Given the description of an element on the screen output the (x, y) to click on. 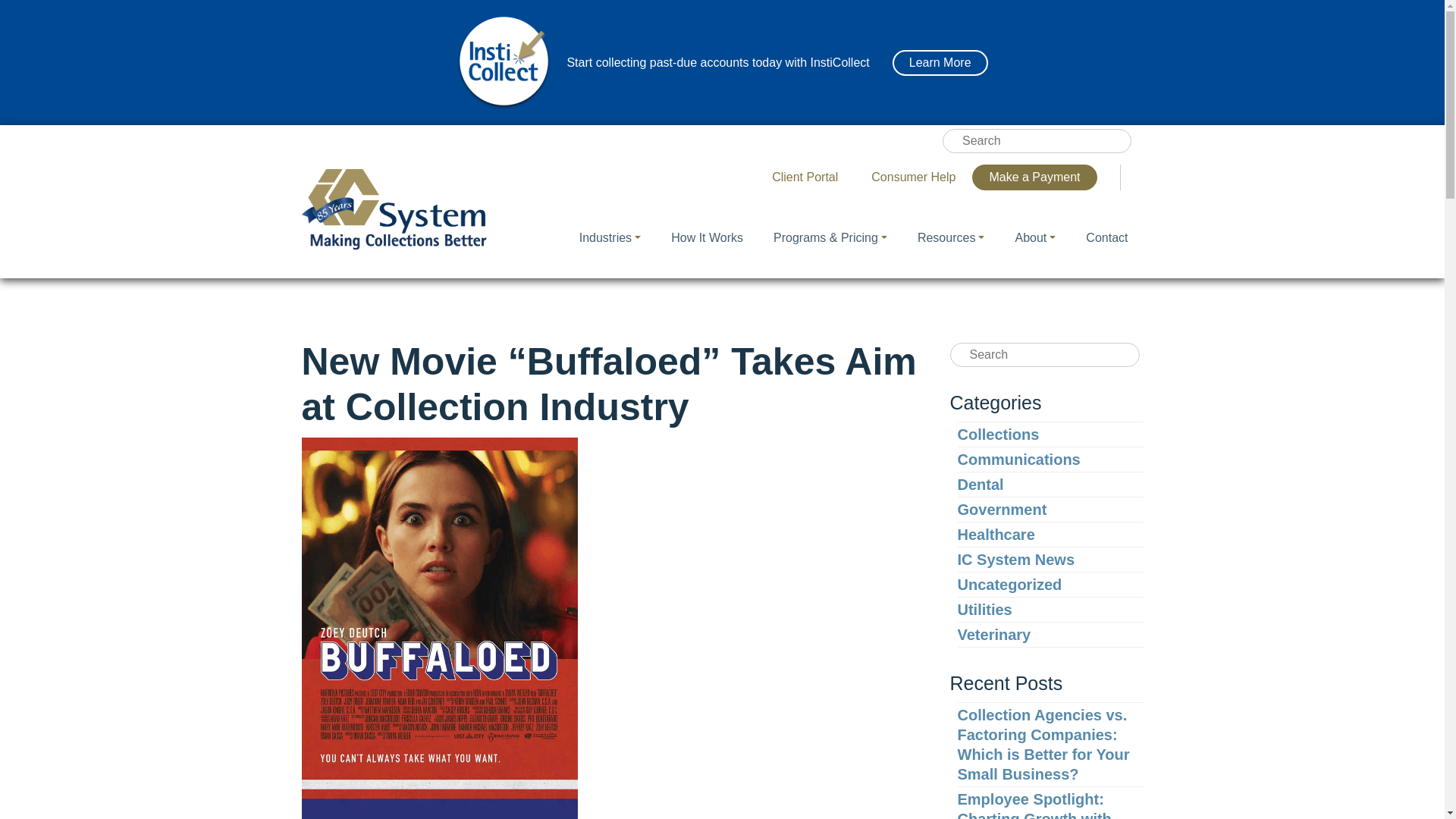
Client Portal (804, 177)
Consumer Help (913, 177)
Industries (610, 238)
How It Works (707, 238)
Industries (610, 238)
Make a Payment (1034, 177)
Learn More (940, 62)
